Given the description of an element on the screen output the (x, y) to click on. 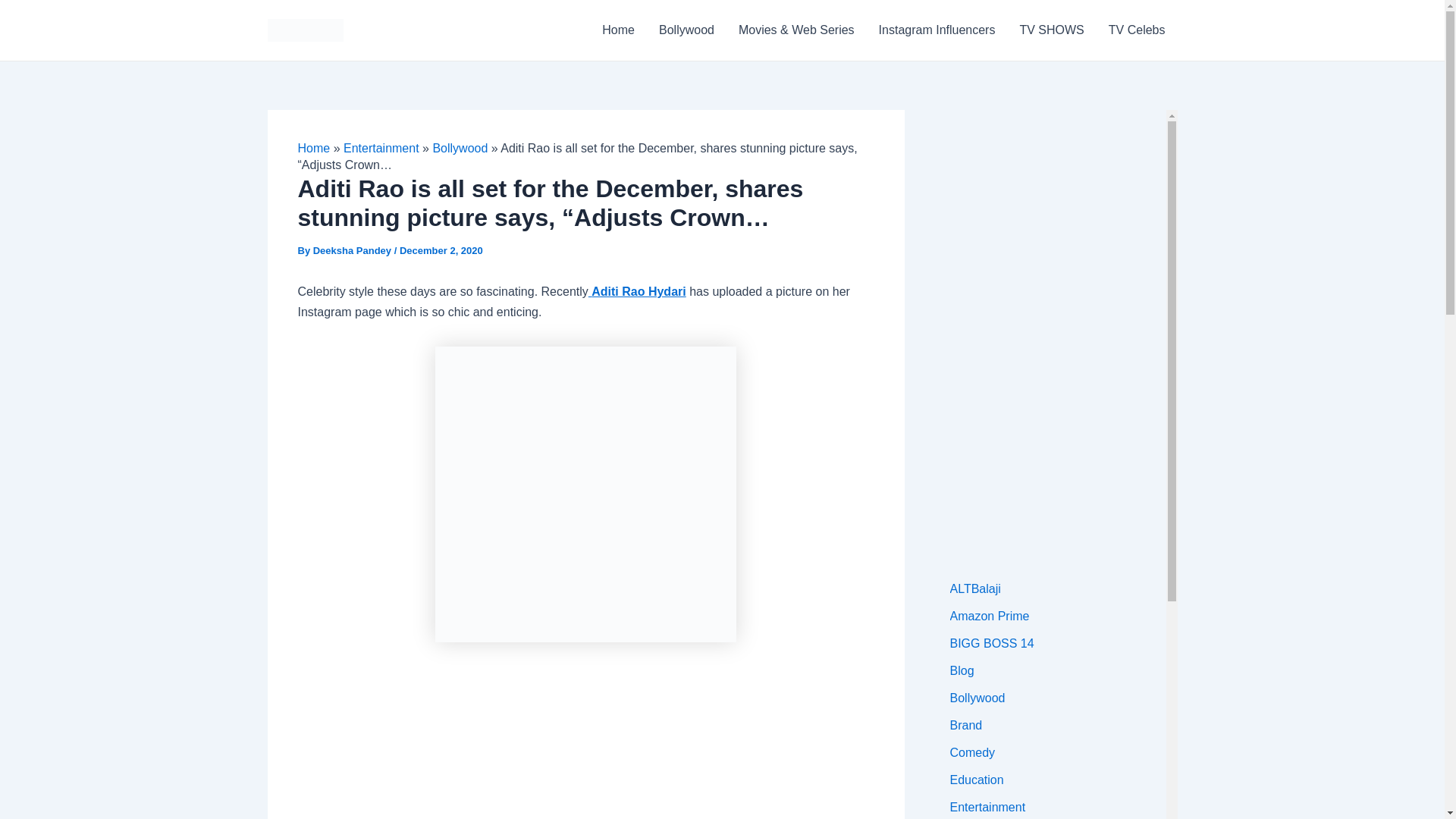
Bollywood (686, 30)
TV SHOWS (1051, 30)
Entertainment (381, 147)
Home (617, 30)
Instagram Influencers (936, 30)
Aditi Rao Hydari (636, 291)
TV Celebs (1136, 30)
Deeksha Pandey (353, 250)
Home (313, 147)
Bollywood (459, 147)
